Given the description of an element on the screen output the (x, y) to click on. 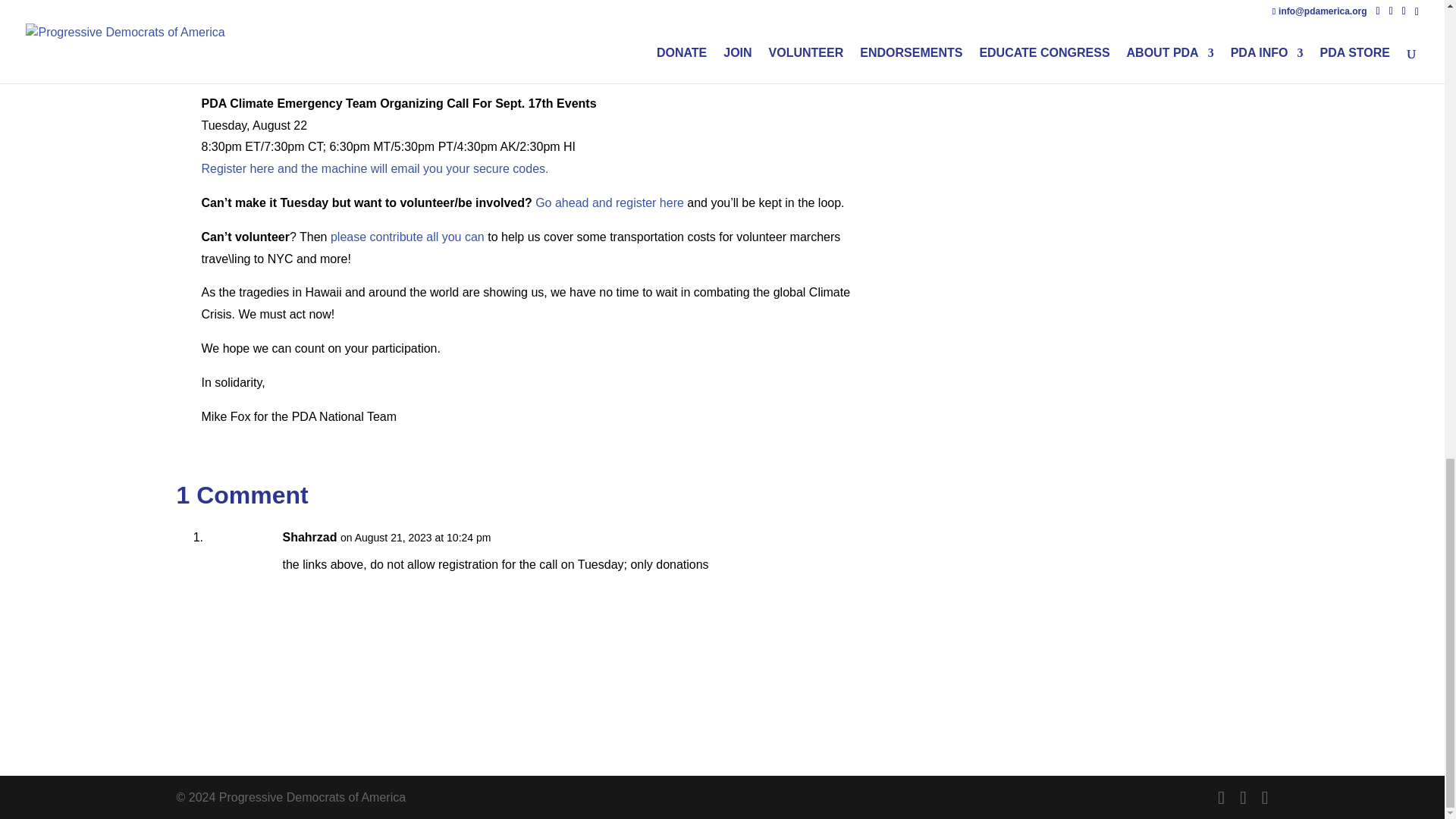
 please contribute all you can (405, 236)
Go ahead and register here (609, 202)
